Given the description of an element on the screen output the (x, y) to click on. 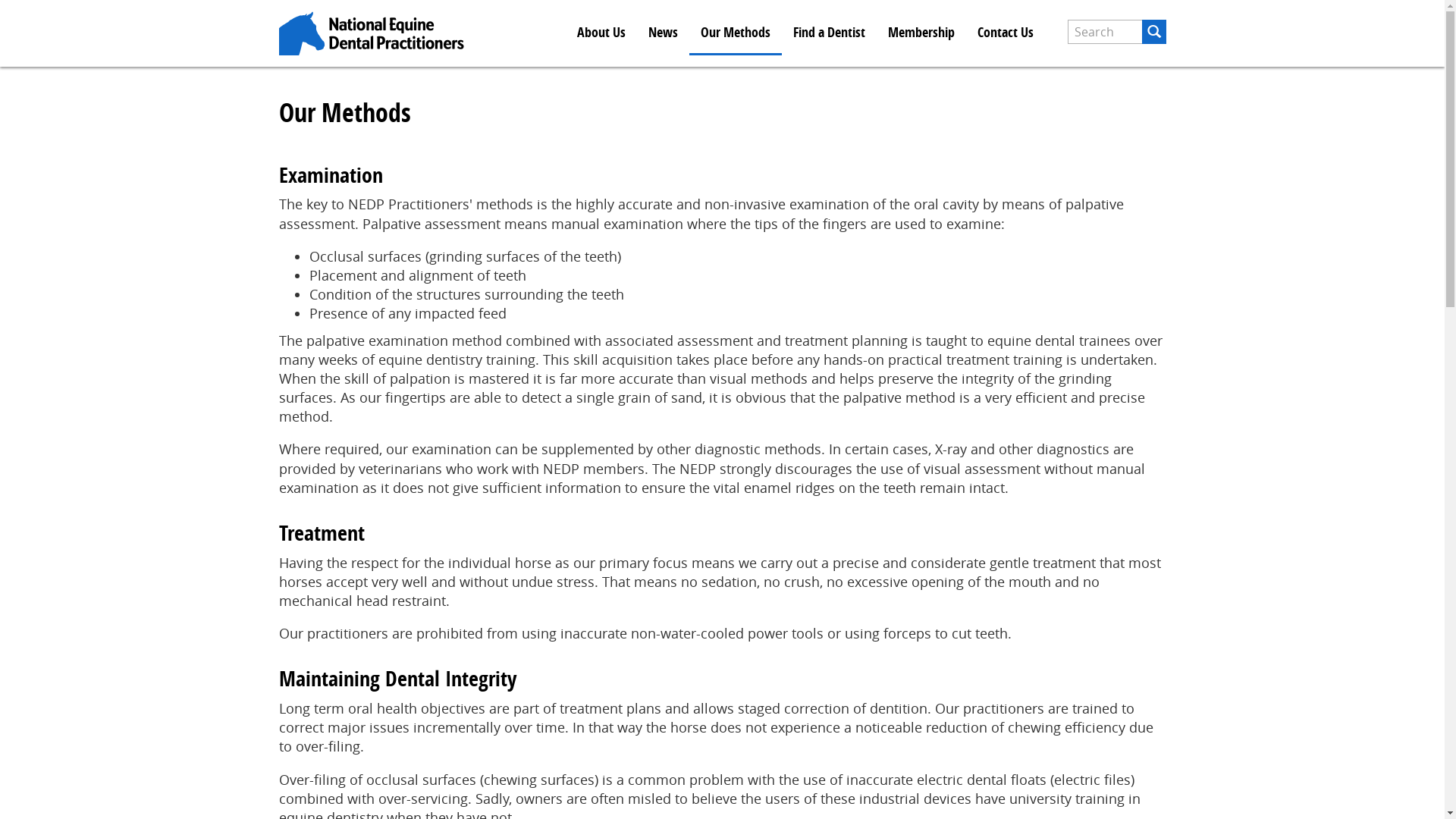
Find a Dentist Element type: text (828, 33)
Search Element type: text (1079, 55)
Membership Element type: text (921, 33)
Home Element type: hover (373, 31)
About Us Element type: text (601, 33)
Our Methods Element type: text (734, 33)
Contact Us Element type: text (1005, 33)
News Element type: text (663, 33)
Skip to main content Element type: text (0, 0)
Enter the terms you wish to search for. Element type: hover (1104, 31)
